Given the description of an element on the screen output the (x, y) to click on. 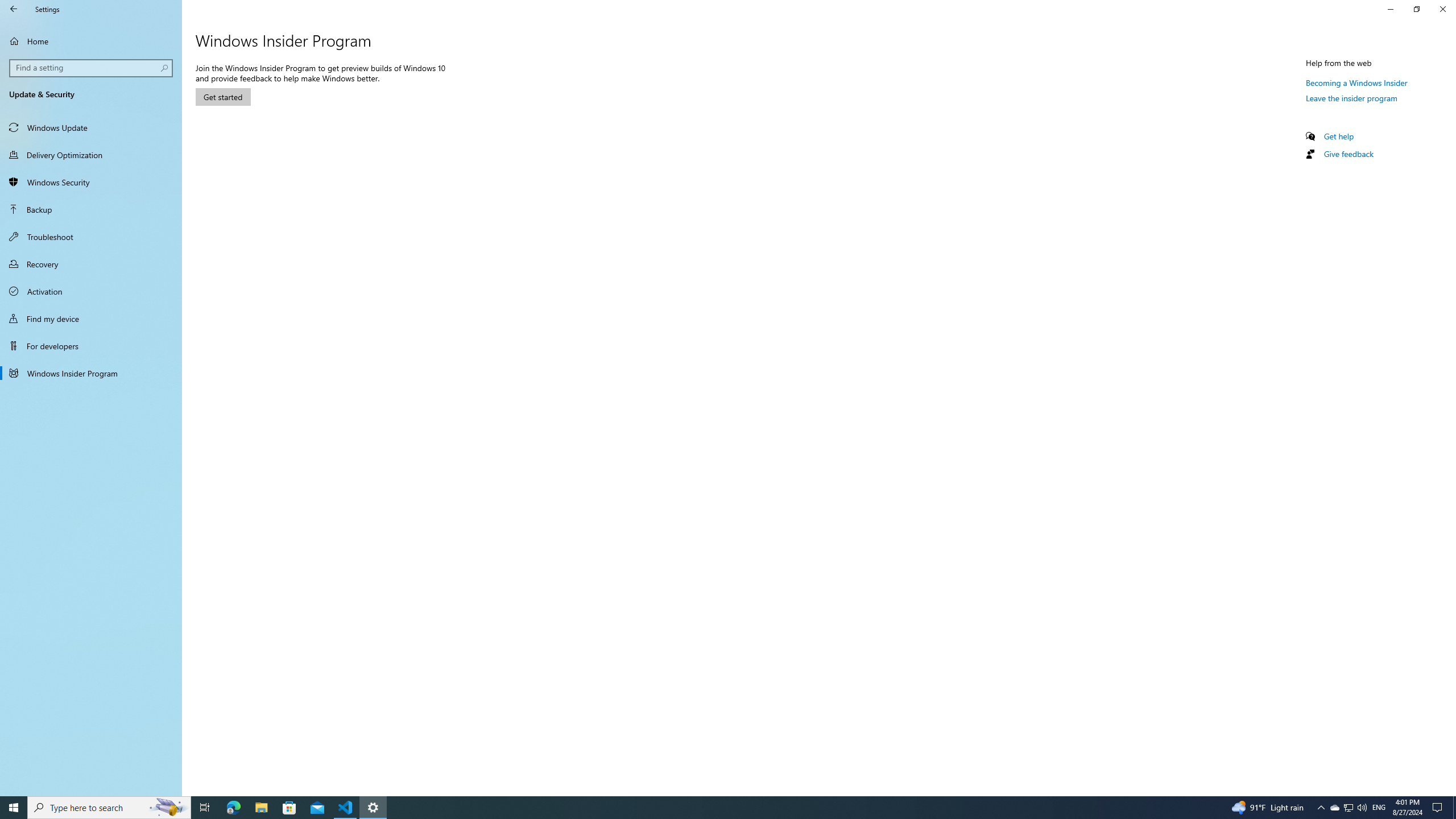
Becoming a Windows Insider (1356, 82)
Delivery Optimization (91, 154)
Recovery (91, 263)
Windows Security (91, 181)
